Given the description of an element on the screen output the (x, y) to click on. 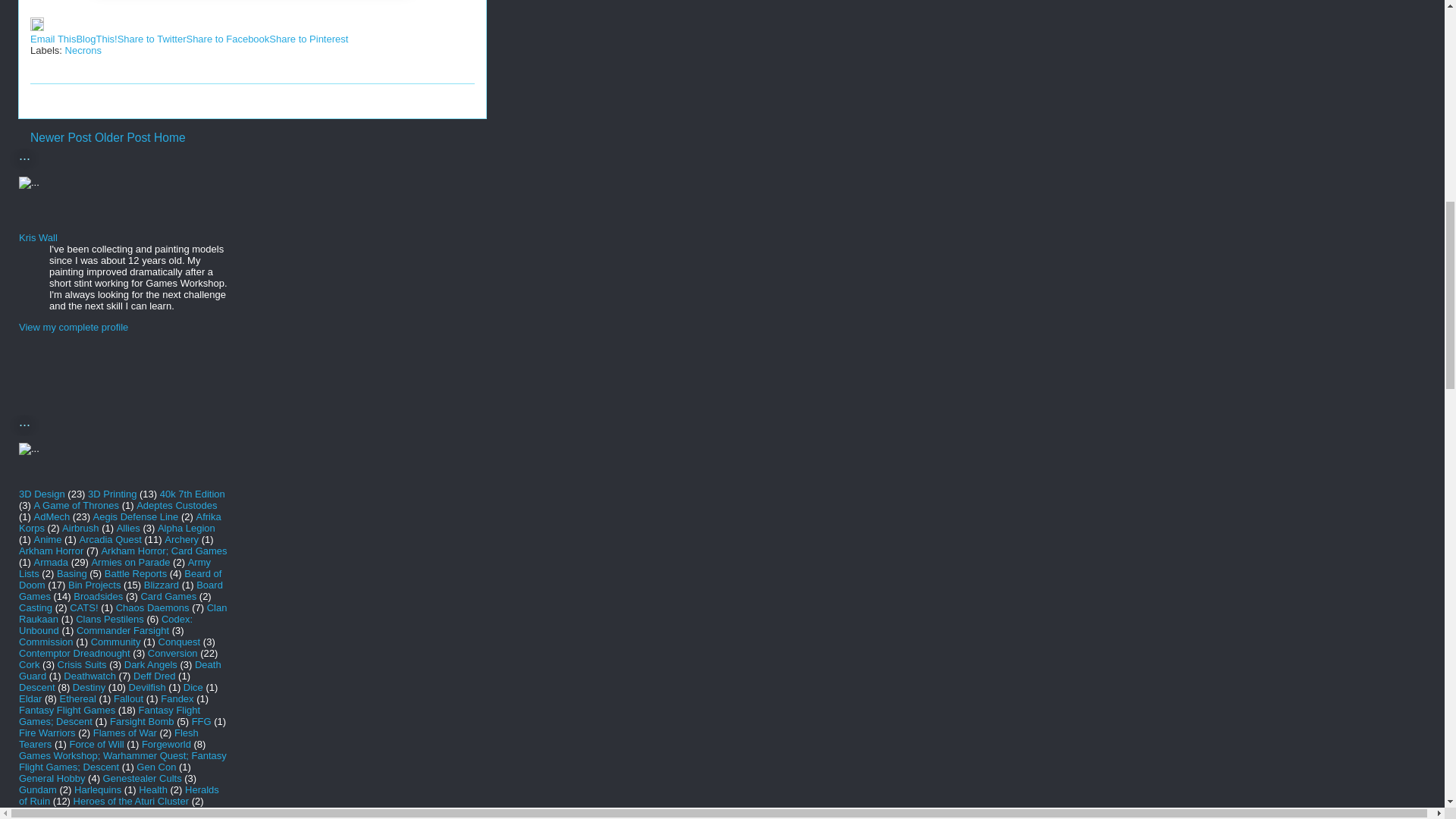
AdMech (51, 516)
BlogThis! (95, 39)
Aegis Defense Line (136, 516)
Anime (47, 539)
Afrika Korps (119, 522)
Share to Facebook (227, 39)
Arcadia Quest (110, 539)
Basing (71, 573)
Share to Pinterest (308, 39)
Allies (127, 527)
Beard of Doom (119, 579)
Email This (52, 39)
Share to Pinterest (308, 39)
Kris Wall (38, 237)
Adeptes Custodes (176, 505)
